Given the description of an element on the screen output the (x, y) to click on. 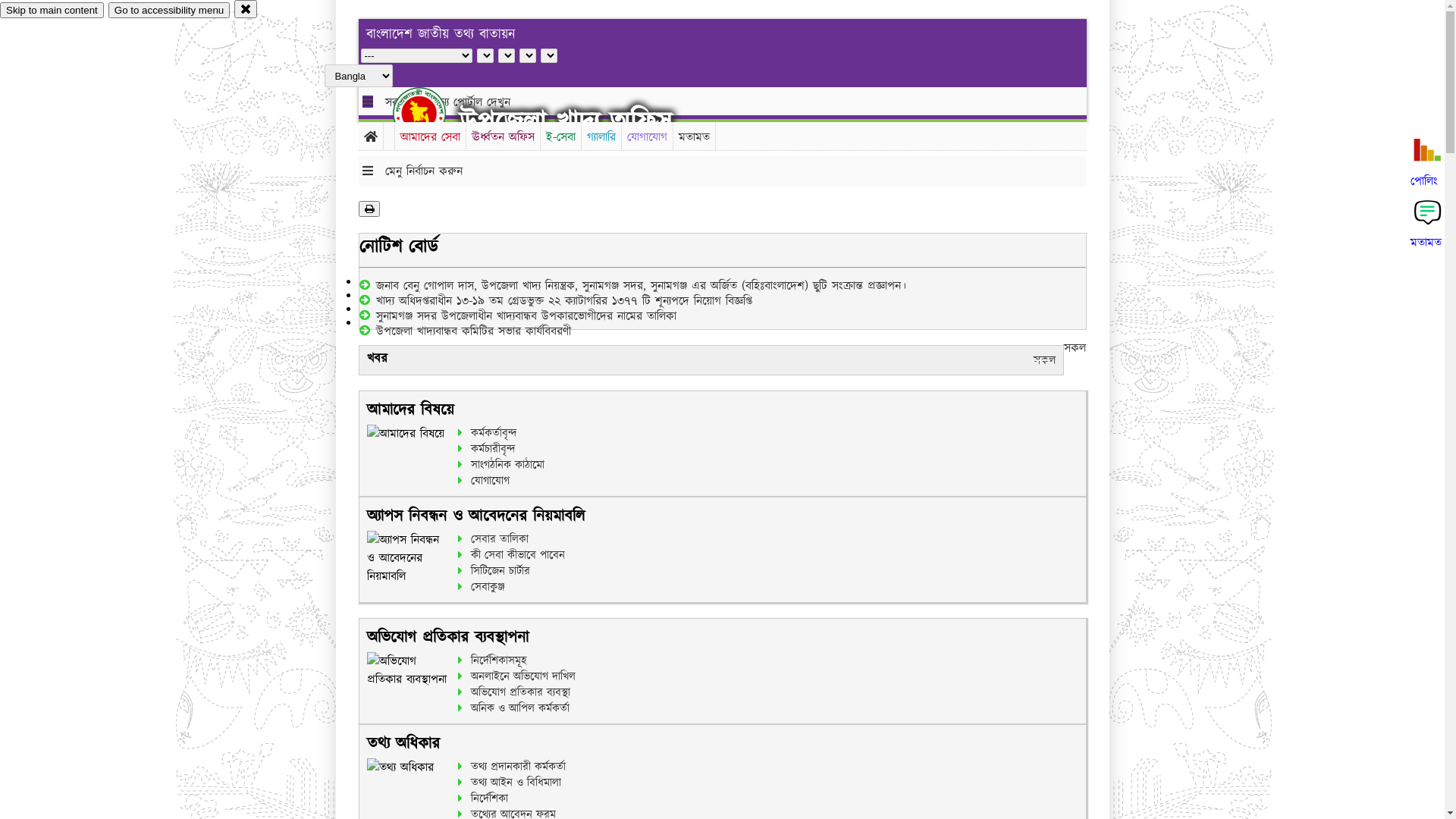
close Element type: hover (245, 9)
Skip to main content Element type: text (51, 10)

                
             Element type: hover (431, 112)
Go to accessibility menu Element type: text (168, 10)
